Given the description of an element on the screen output the (x, y) to click on. 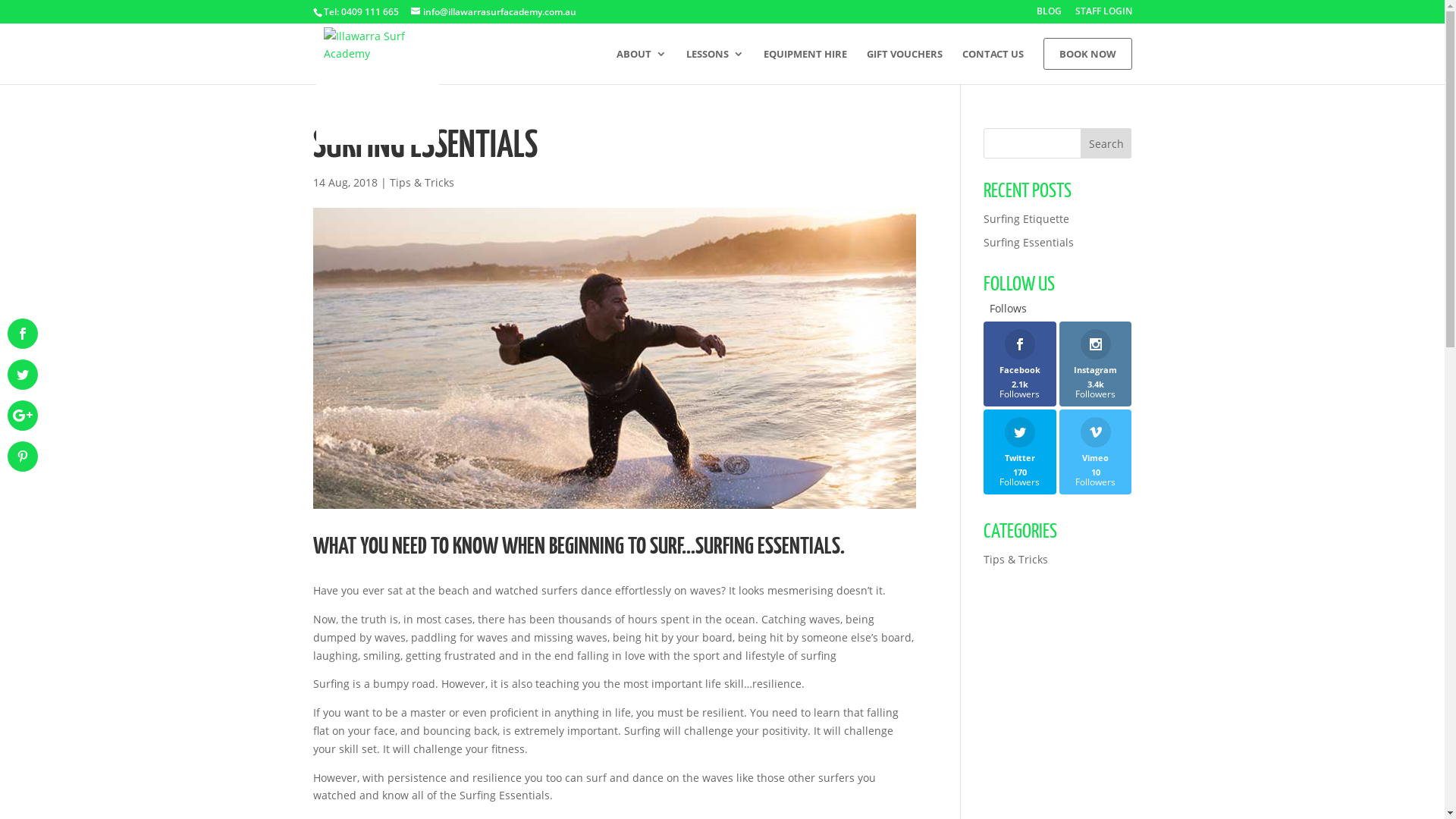
ABOUT Element type: text (640, 66)
STAFF LOGIN Element type: text (1103, 14)
Instagram
3.4k
Followers Element type: text (1095, 363)
EQUIPMENT HIRE Element type: text (804, 66)
Vimeo
10
Followers Element type: text (1095, 451)
BLOG Element type: text (1047, 14)
Surfing Etiquette Element type: text (1026, 218)
Surfing Essentials Element type: text (1028, 242)
Twitter
170
Followers Element type: text (1019, 451)
BOOK NOW Element type: text (1087, 53)
Facebook
2.1k
Followers Element type: text (1019, 363)
CONTACT US Element type: text (991, 66)
Tips & Tricks Element type: text (421, 182)
LESSONS Element type: text (714, 66)
info@illawarrasurfacademy.com.au Element type: text (493, 11)
Search Element type: text (1106, 143)
GIFT VOUCHERS Element type: text (903, 66)
Tips & Tricks Element type: text (1015, 559)
